Given the description of an element on the screen output the (x, y) to click on. 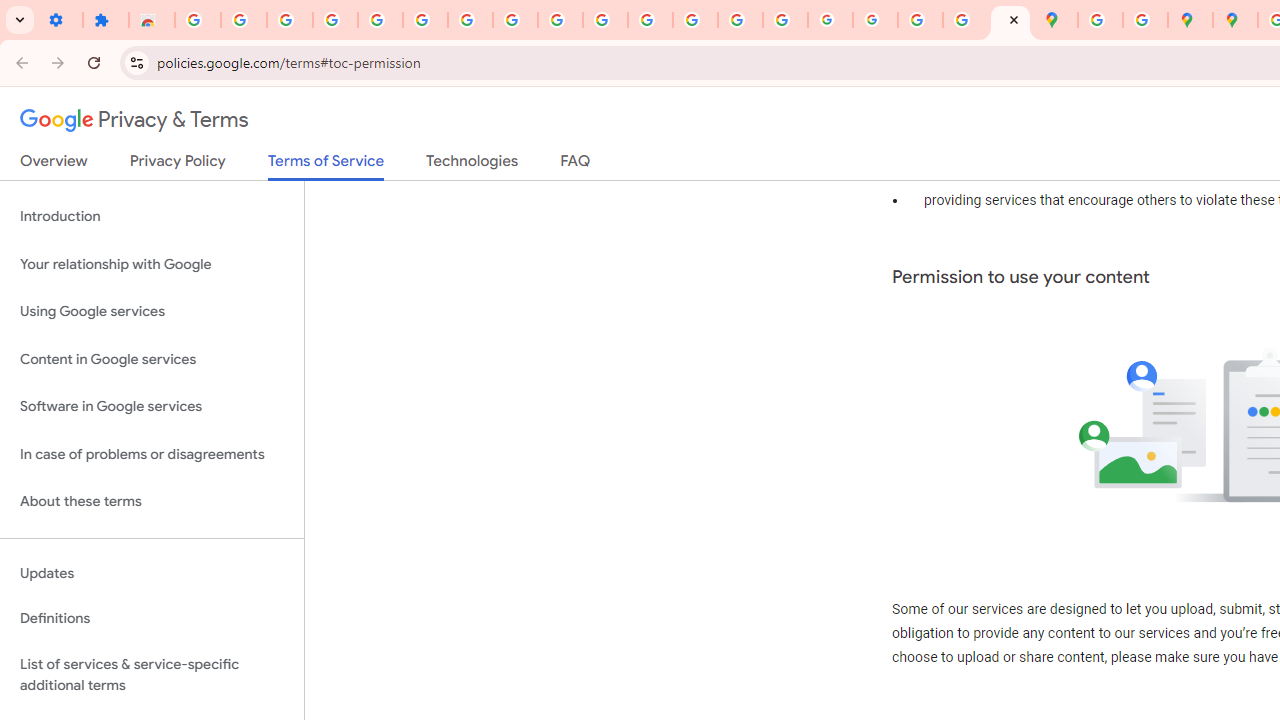
Your relationship with Google (152, 263)
Sign in - Google Accounts (198, 20)
Learn how to find your photos - Google Photos Help (335, 20)
Updates (152, 573)
Safety in Our Products - Google Safety Center (1145, 20)
